Given the description of an element on the screen output the (x, y) to click on. 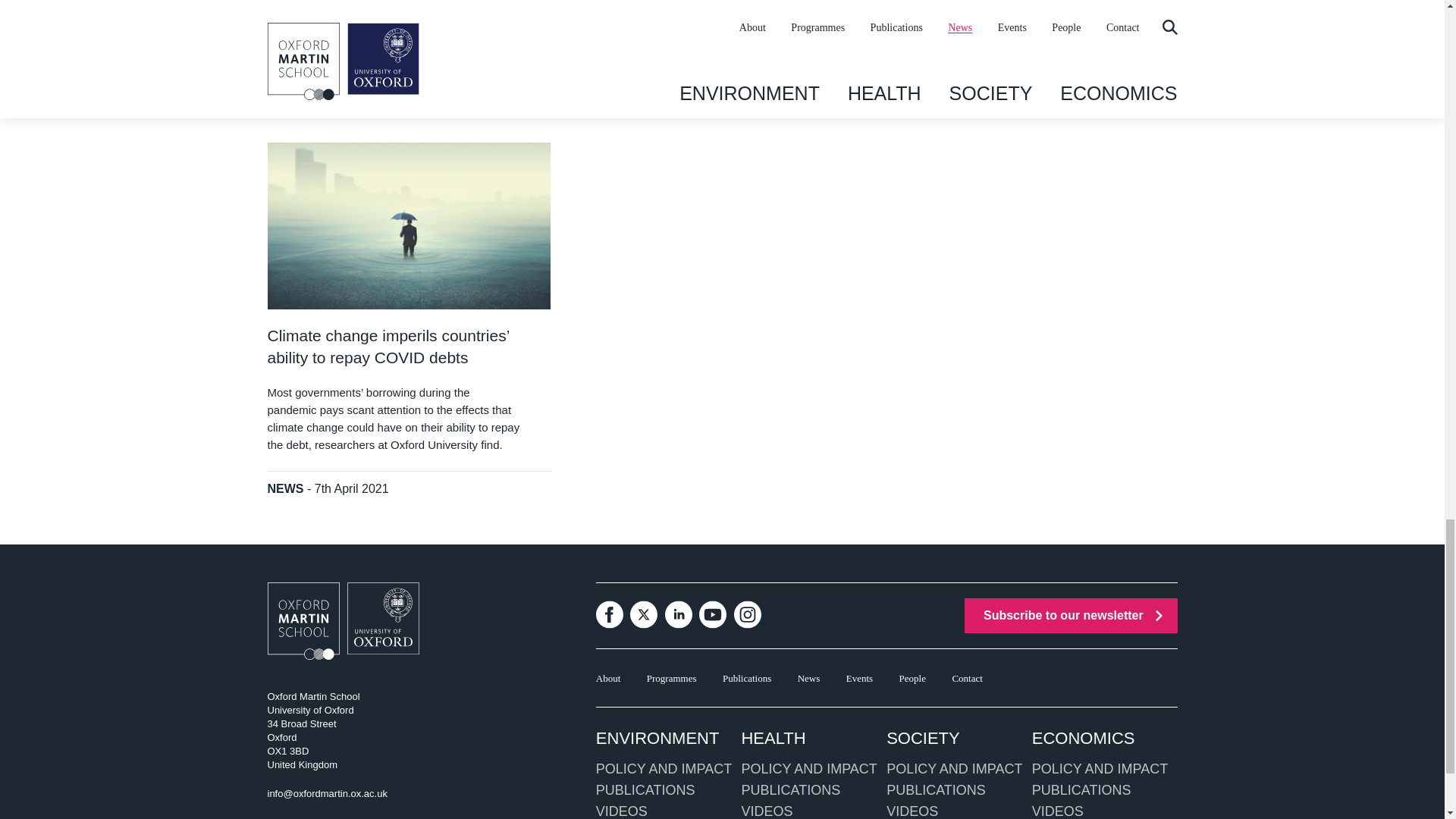
About Us (608, 678)
Subscribe to our newsletter (1070, 615)
Find us on LinkedIn (679, 614)
About our Research Programmes (671, 678)
Find us on YouTube (712, 614)
View our Publications (746, 678)
Find us on Instagram (747, 614)
Find us on Facebook (609, 614)
